Given the description of an element on the screen output the (x, y) to click on. 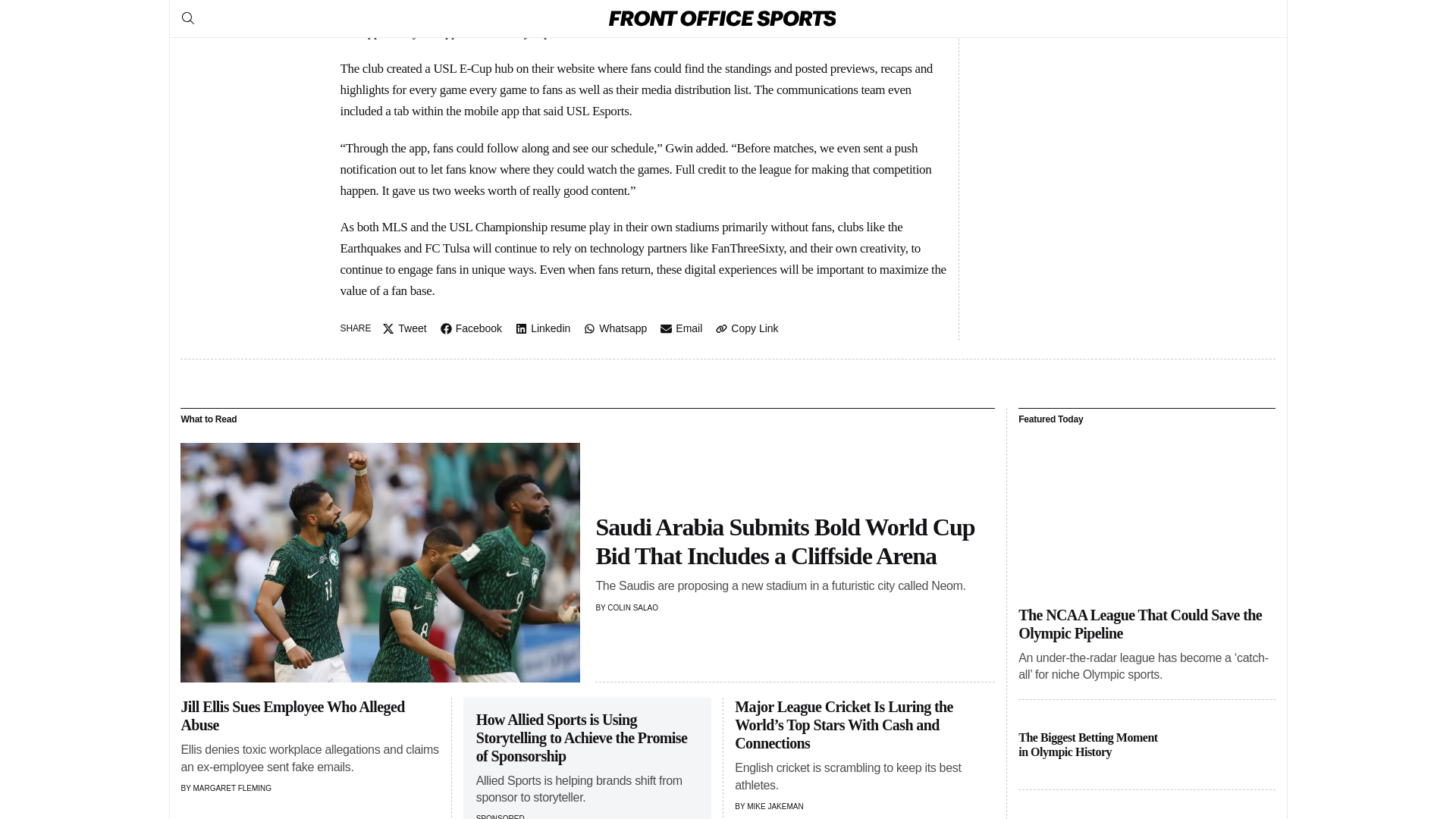
Posts by Margaret Fleming (231, 787)
Posts by Colin Salao (632, 607)
Posts by Mike Jakeman (774, 806)
